Given the description of an element on the screen output the (x, y) to click on. 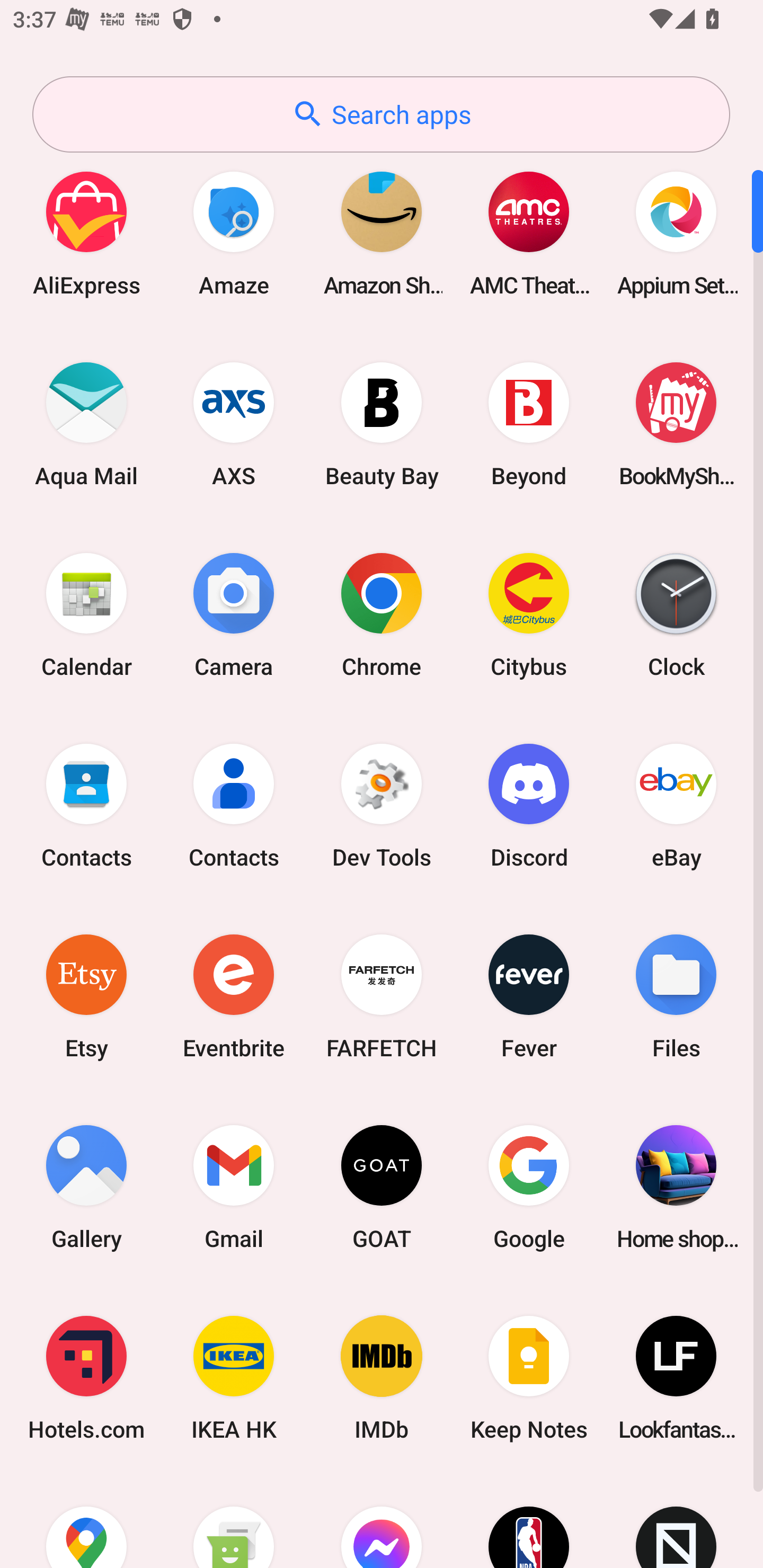
  Search apps (381, 114)
AliExpress (86, 233)
Amaze (233, 233)
Amazon Shopping (381, 233)
AMC Theatres (528, 233)
Appium Settings (676, 233)
Aqua Mail (86, 424)
AXS (233, 424)
Beauty Bay (381, 424)
Beyond (528, 424)
BookMyShow (676, 424)
Calendar (86, 614)
Camera (233, 614)
Chrome (381, 614)
Citybus (528, 614)
Clock (676, 614)
Contacts (86, 805)
Contacts (233, 805)
Dev Tools (381, 805)
Discord (528, 805)
eBay (676, 805)
Etsy (86, 996)
Eventbrite (233, 996)
FARFETCH (381, 996)
Fever (528, 996)
Files (676, 996)
Gallery (86, 1186)
Gmail (233, 1186)
GOAT (381, 1186)
Google (528, 1186)
Home shopping (676, 1186)
Hotels.com (86, 1377)
IKEA HK (233, 1377)
IMDb (381, 1377)
Keep Notes (528, 1377)
Lookfantastic (676, 1377)
